Given the description of an element on the screen output the (x, y) to click on. 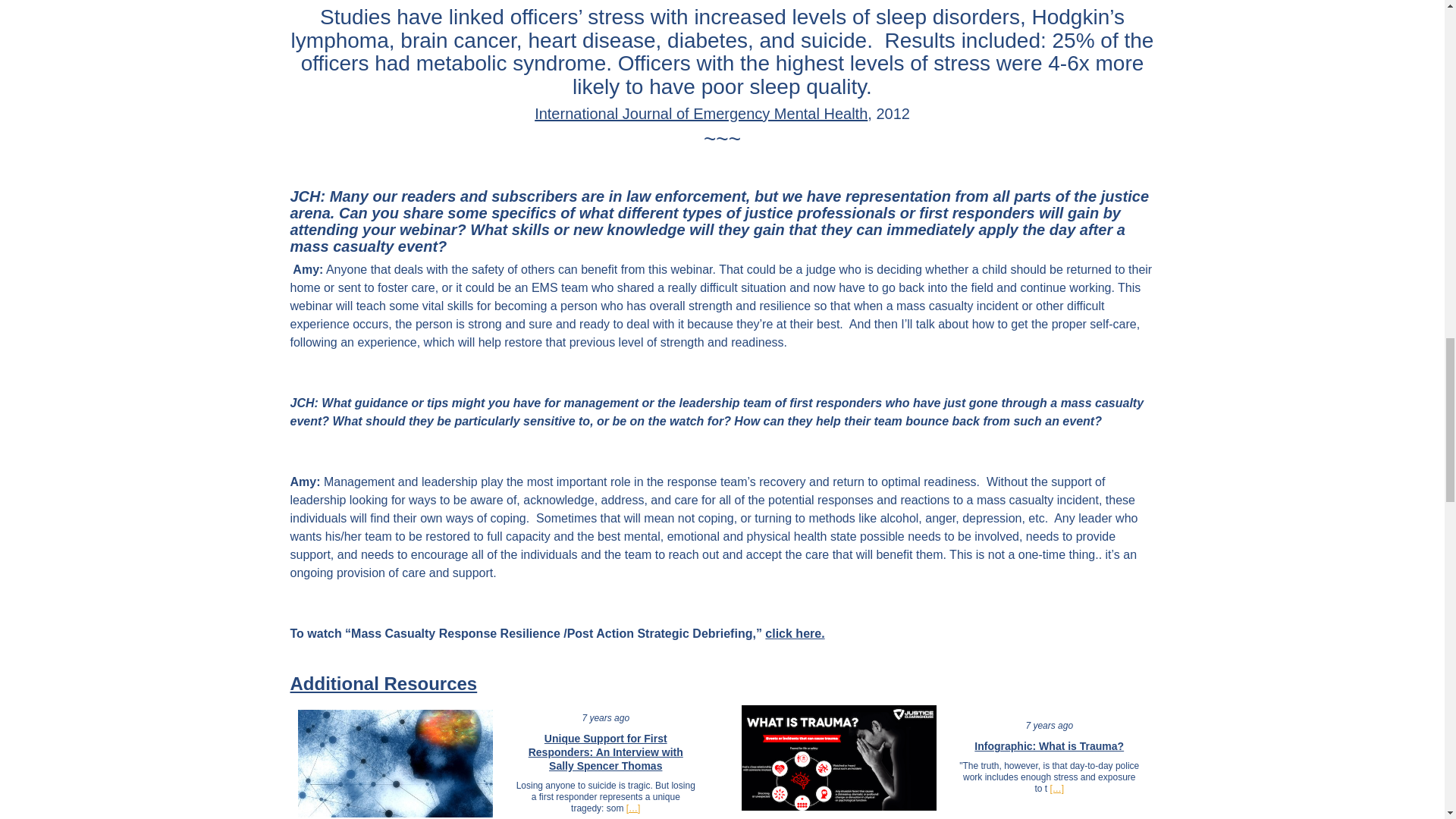
International Journal of Emergency Mental Health (700, 113)
Infographic: What is Trauma? (1049, 746)
click here. (794, 633)
